Given the description of an element on the screen output the (x, y) to click on. 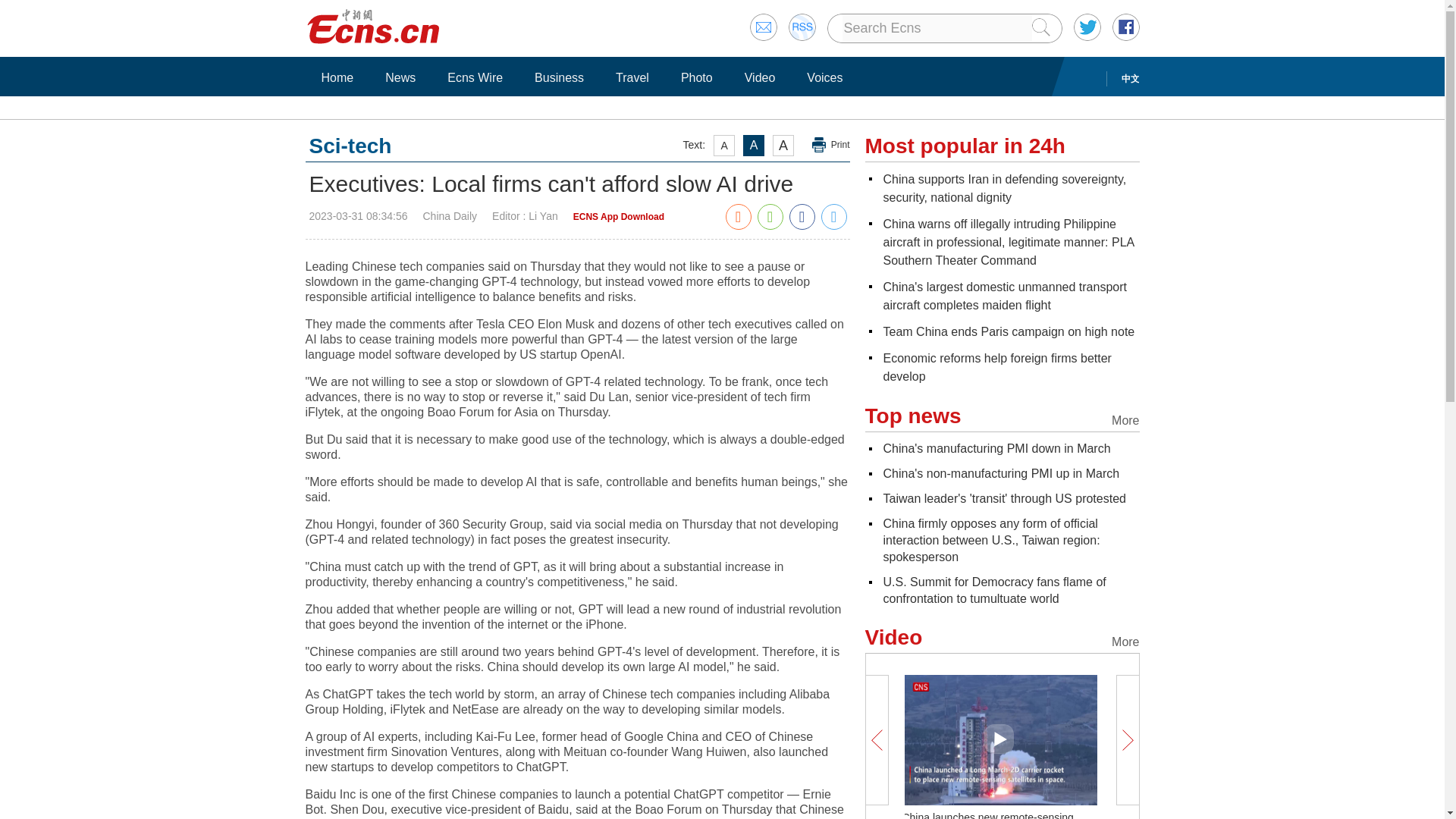
Photo (696, 77)
Ecns Wire (475, 77)
Search Ecns (935, 27)
Business (558, 77)
China (1003, 187)
News (400, 77)
Print (831, 144)
Team (1008, 331)
China (1008, 241)
Travel (632, 77)
